Given the description of an element on the screen output the (x, y) to click on. 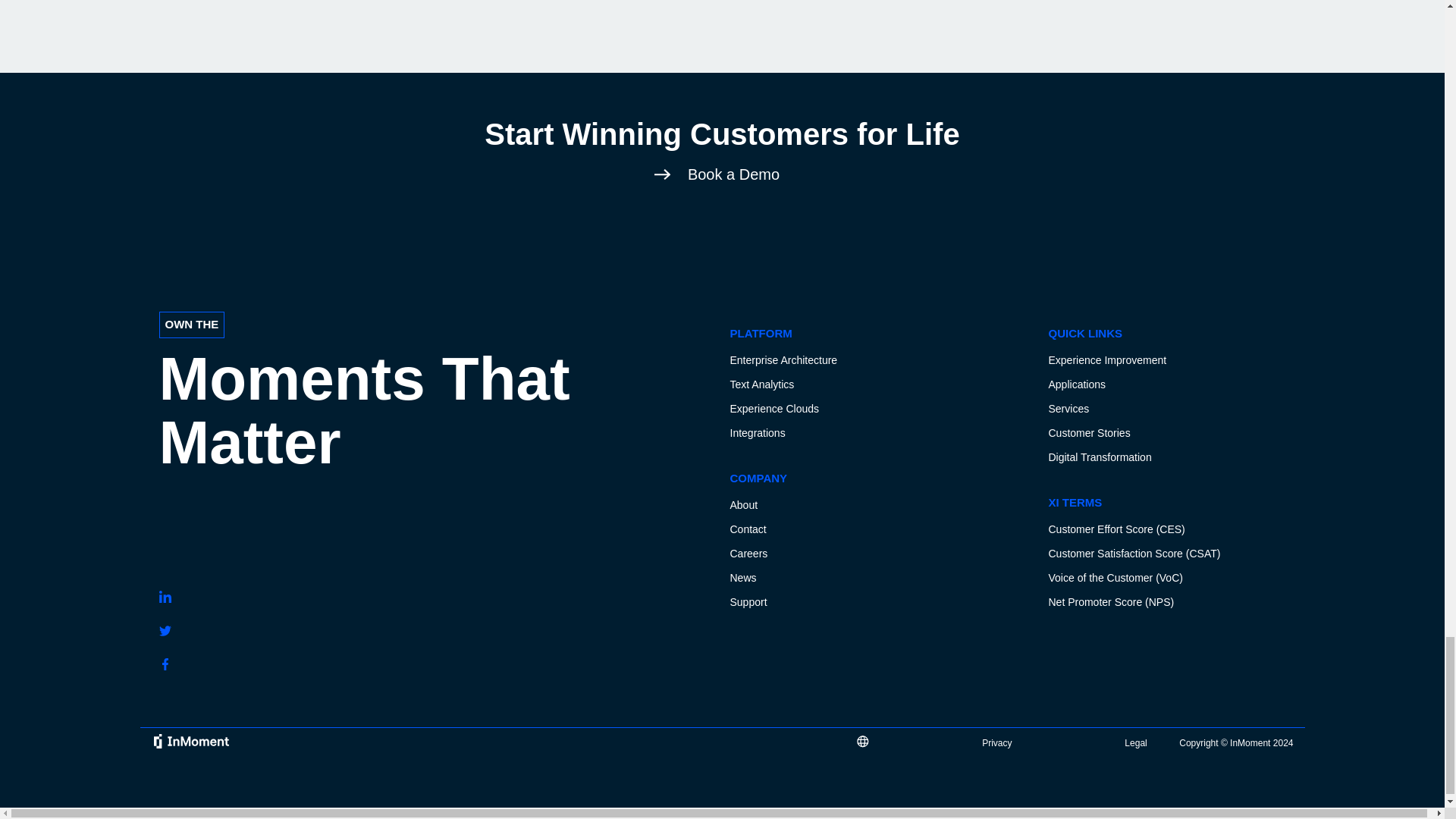
facebook (164, 664)
twitter (164, 630)
linkedin (164, 596)
